Given the description of an element on the screen output the (x, y) to click on. 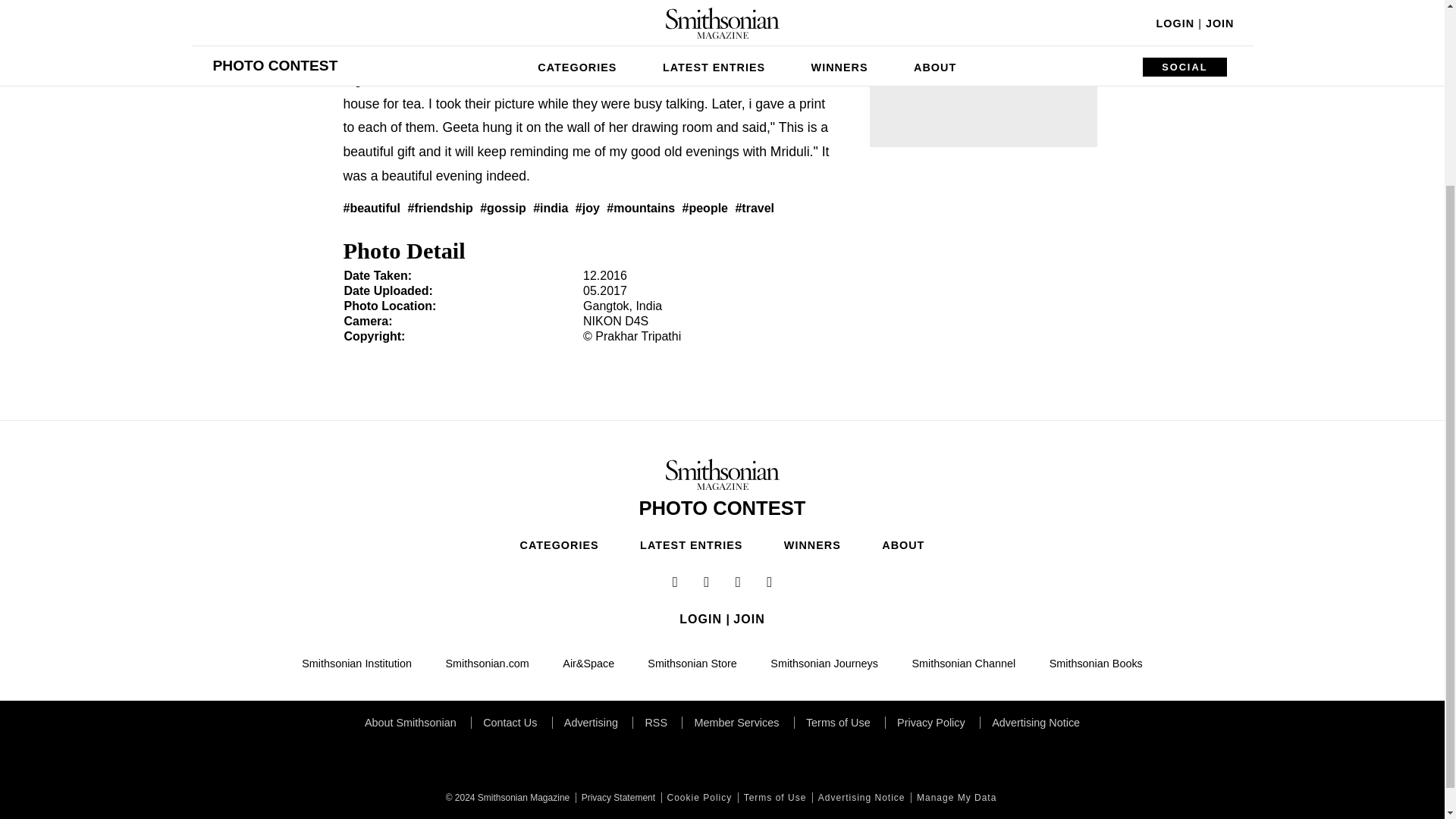
Privacy Statement (616, 797)
Manage My Data (954, 797)
Advertising Notice (859, 797)
Terms of Use (773, 797)
Cookie Policy (698, 797)
